Given the description of an element on the screen output the (x, y) to click on. 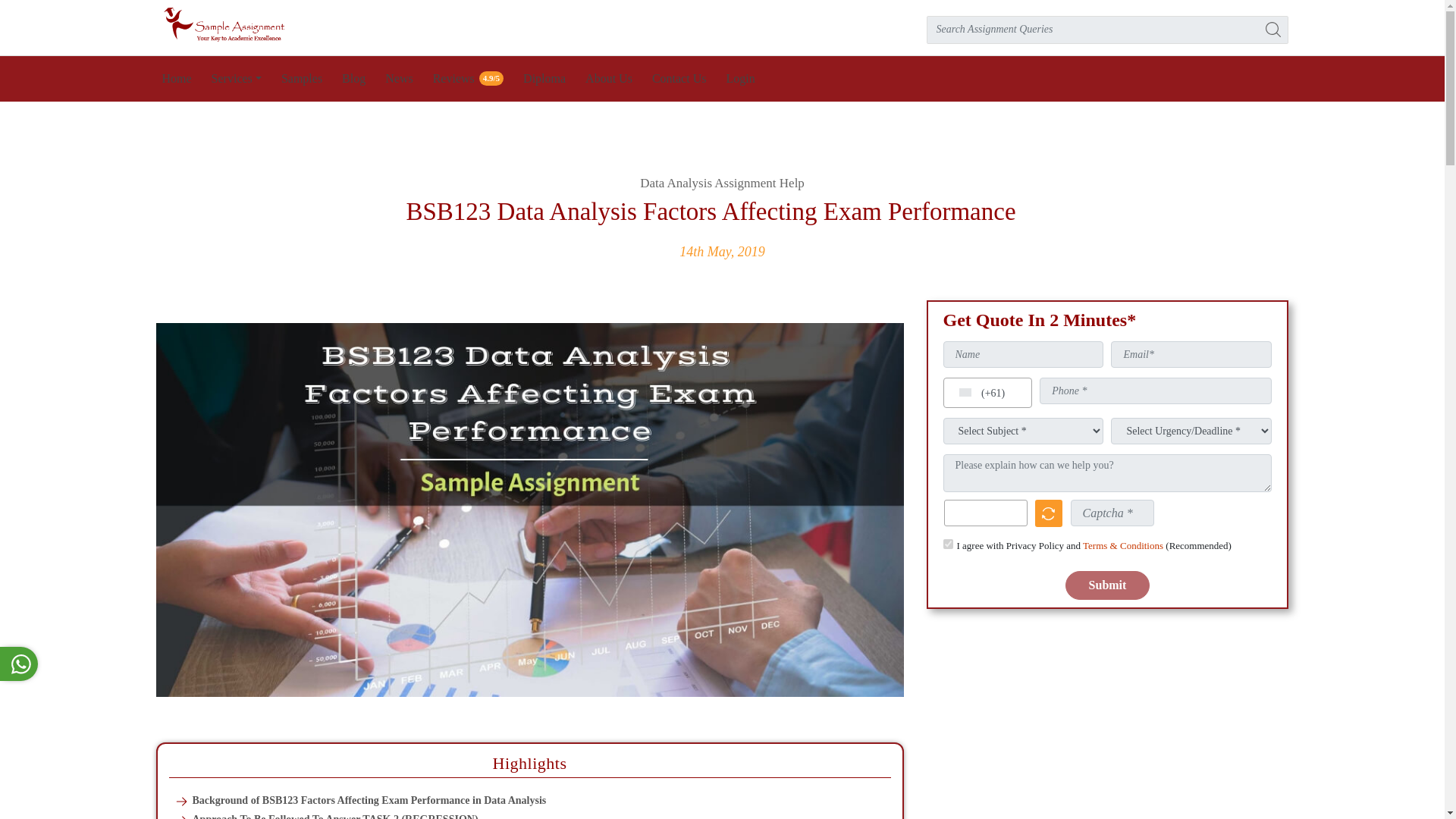
on (948, 543)
Home (176, 78)
Services (236, 78)
